Given the description of an element on the screen output the (x, y) to click on. 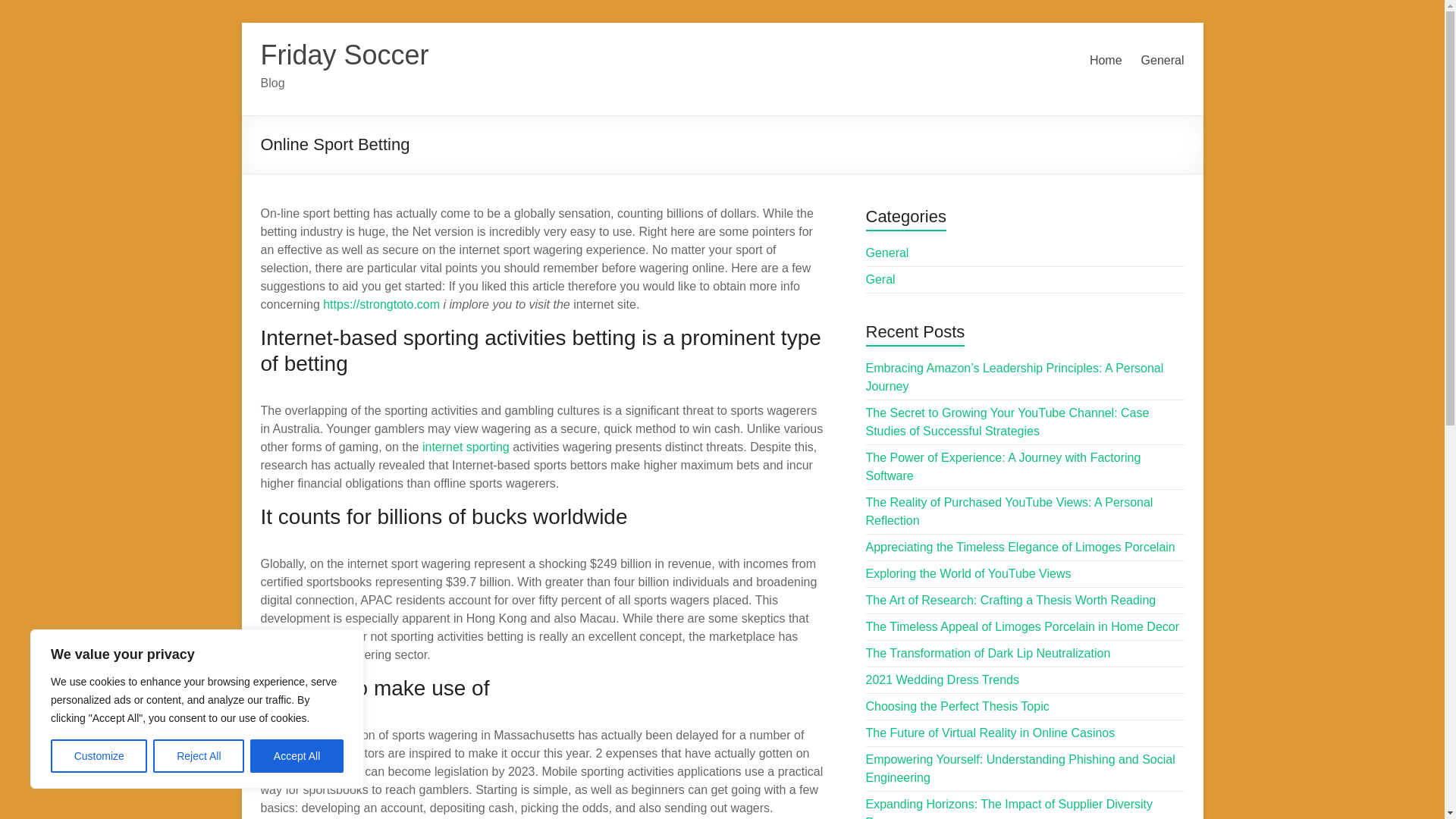
Appreciating the Timeless Elegance of Limoges Porcelain (1020, 546)
The Power of Experience: A Journey with Factoring Software (1003, 466)
internet sporting (465, 446)
Friday Soccer (344, 54)
Accept All (296, 756)
Geral (880, 278)
Customize (98, 756)
Exploring the World of YouTube Views (968, 573)
Home (1105, 60)
